Given the description of an element on the screen output the (x, y) to click on. 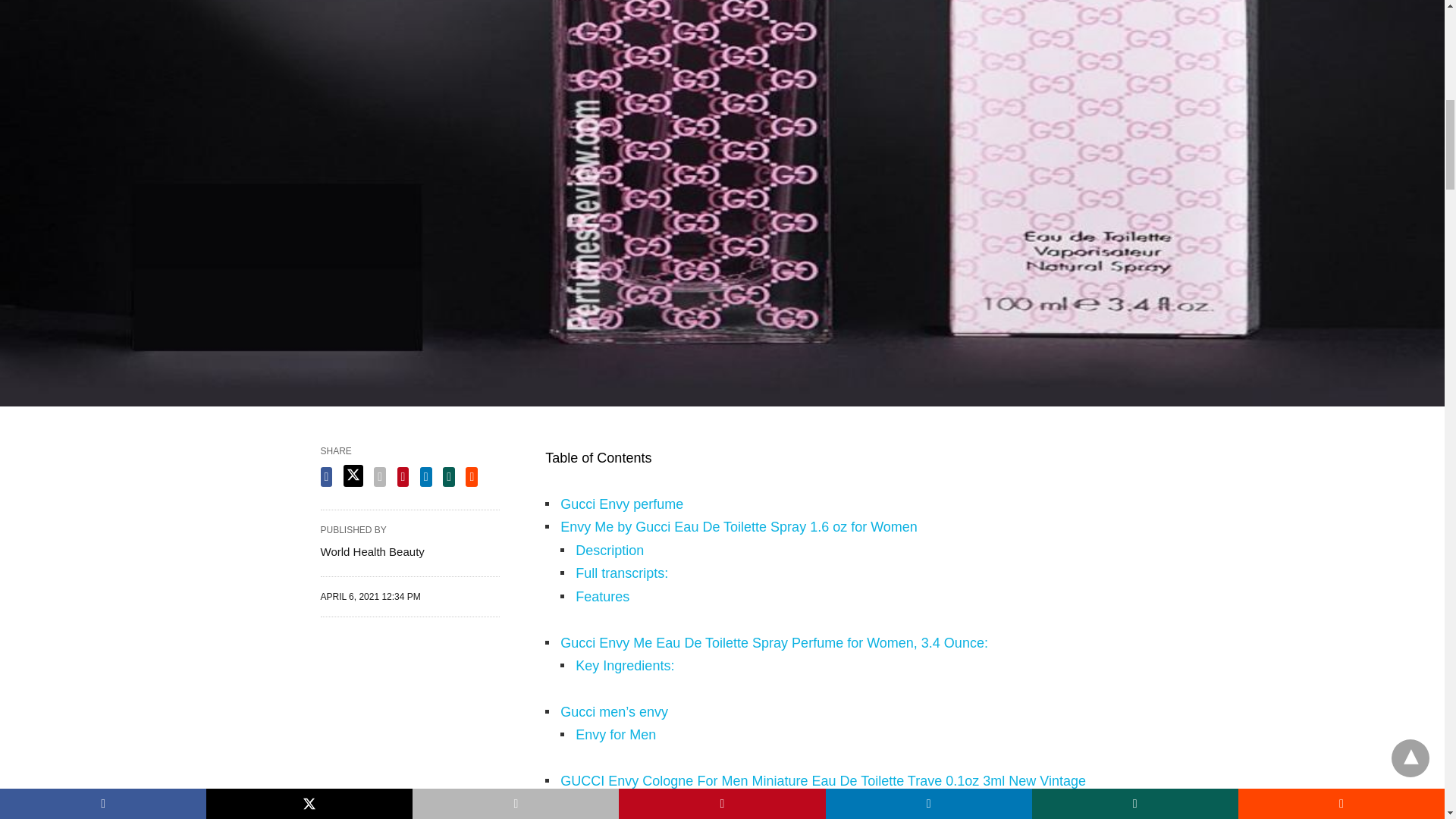
Envy for Men (615, 734)
Features (601, 596)
Full transcripts: (621, 572)
Envy Me by Gucci Eau De Toilette Spray 1.6 oz for Women (738, 526)
Envy for Men (615, 734)
Envy Me by Gucci Eau De Toilette Spray 1.6 oz for Women (738, 526)
Full transcripts: (621, 572)
Features (601, 596)
